Given the description of an element on the screen output the (x, y) to click on. 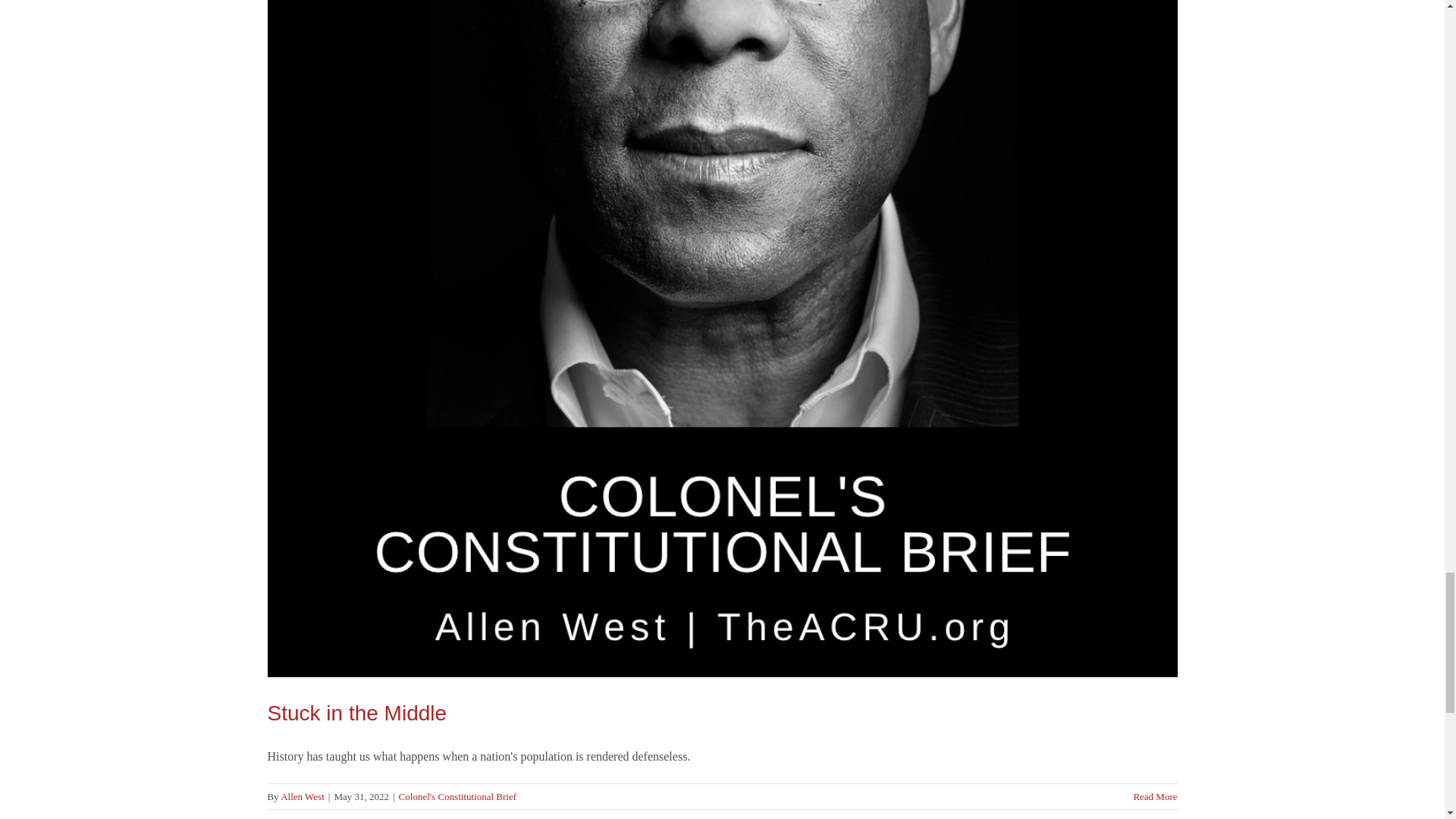
Posts by Allen West (302, 796)
